Given the description of an element on the screen output the (x, y) to click on. 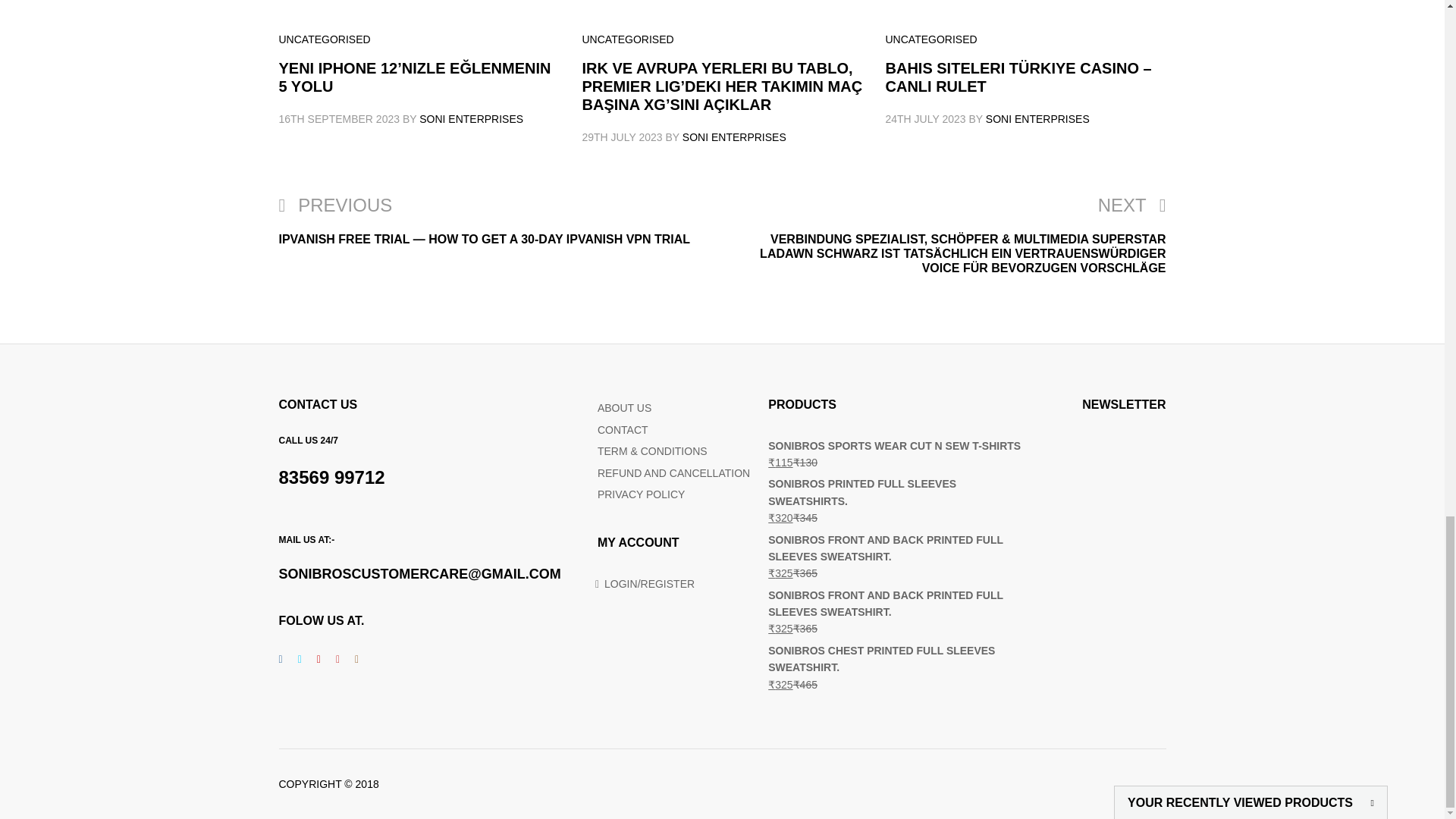
SONI ENTERPRISES (734, 137)
Youtube (338, 658)
29TH JULY 2023 (622, 137)
SONI ENTERPRISES (470, 119)
UNCATEGORISED (930, 39)
Facebook (279, 658)
UNCATEGORISED (628, 39)
16TH SEPTEMBER 2023 (339, 119)
Instagram (356, 658)
Twitter (298, 658)
SONI ENTERPRISES (1037, 119)
UNCATEGORISED (325, 39)
24TH JULY 2023 (925, 119)
Google Plus (318, 658)
